Given the description of an element on the screen output the (x, y) to click on. 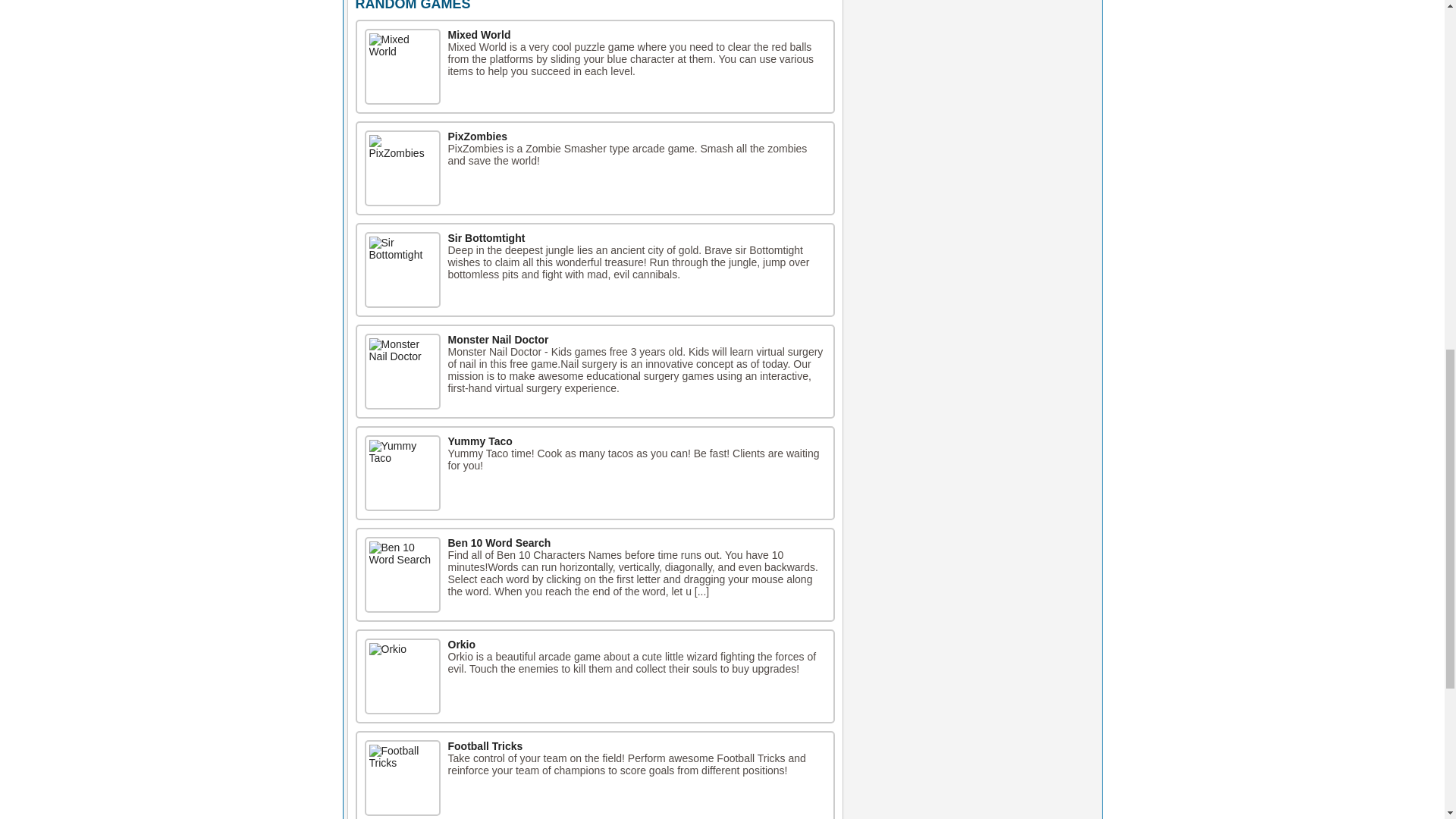
Yummy Taco (479, 440)
Mixed World (478, 34)
PixZombies (476, 136)
Orkio (461, 644)
Ben 10 Word Search (498, 542)
PixZombies (401, 168)
Mixed World (401, 66)
Sir Bottomtight (485, 237)
Mixed World (478, 34)
PixZombies (476, 136)
